Given the description of an element on the screen output the (x, y) to click on. 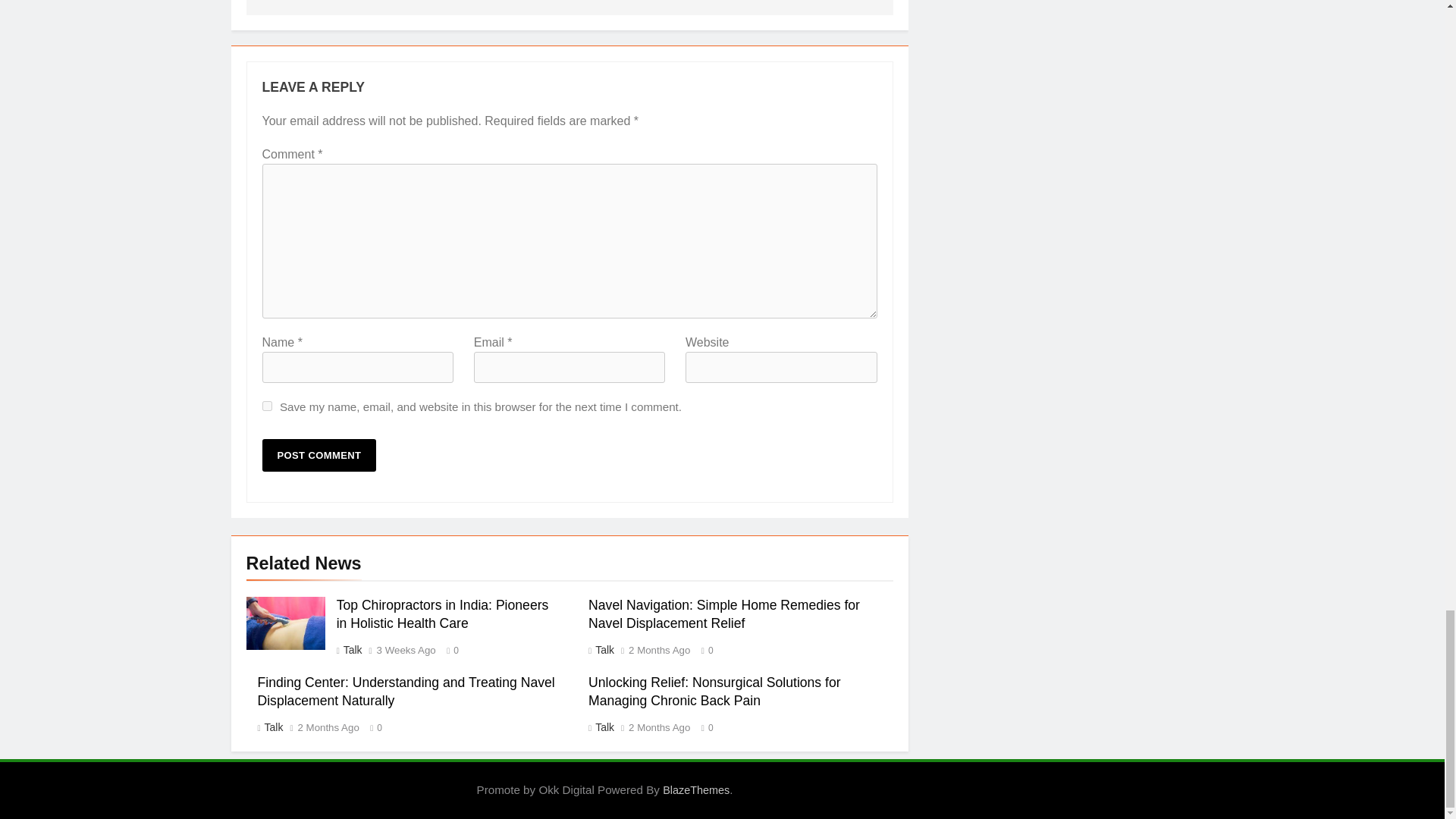
Post Comment (319, 454)
yes (267, 406)
